Given the description of an element on the screen output the (x, y) to click on. 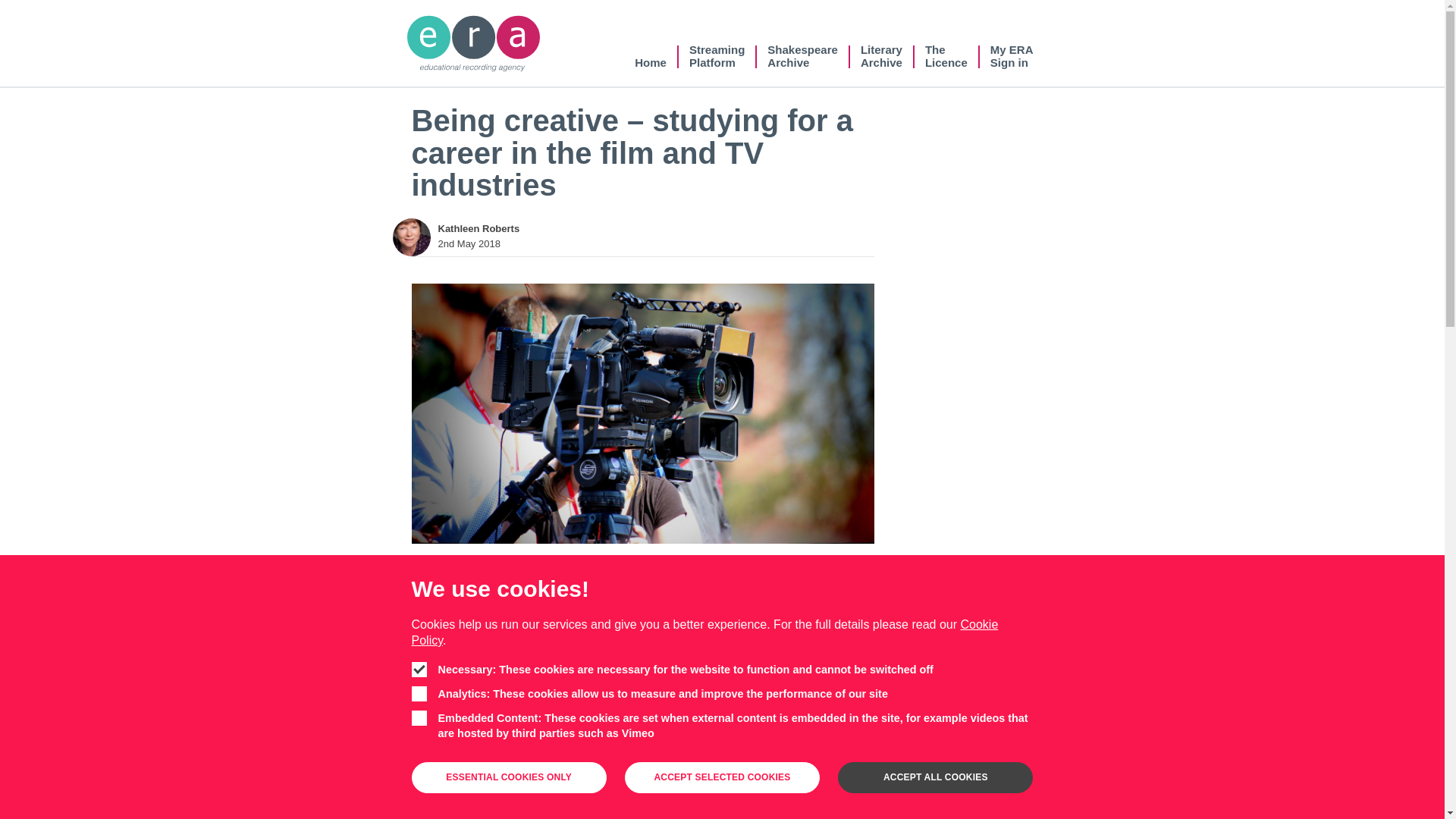
Cookie Policy (881, 56)
Home (703, 632)
